Given the description of an element on the screen output the (x, y) to click on. 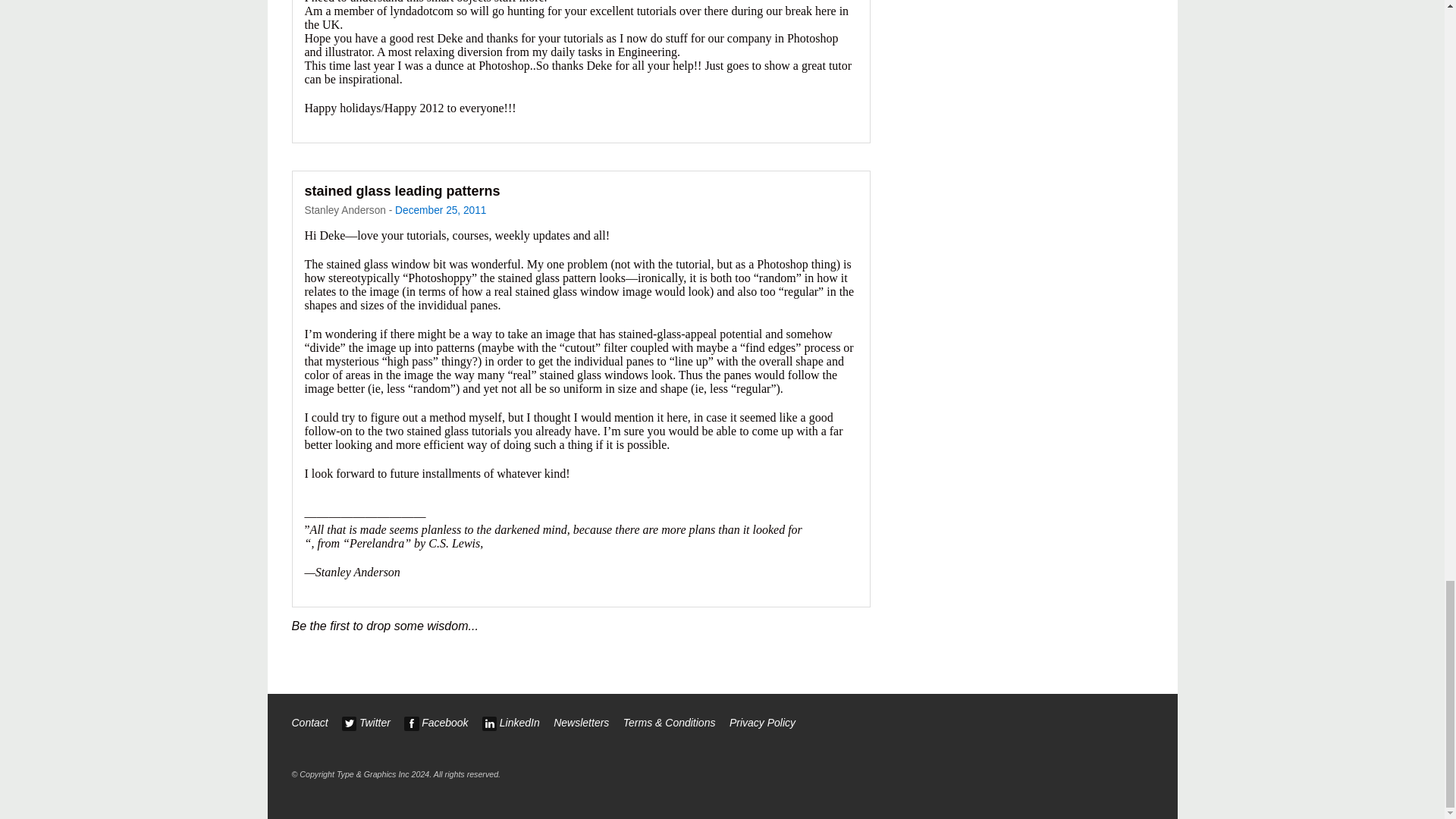
December 25, 2011 (440, 210)
